Given the description of an element on the screen output the (x, y) to click on. 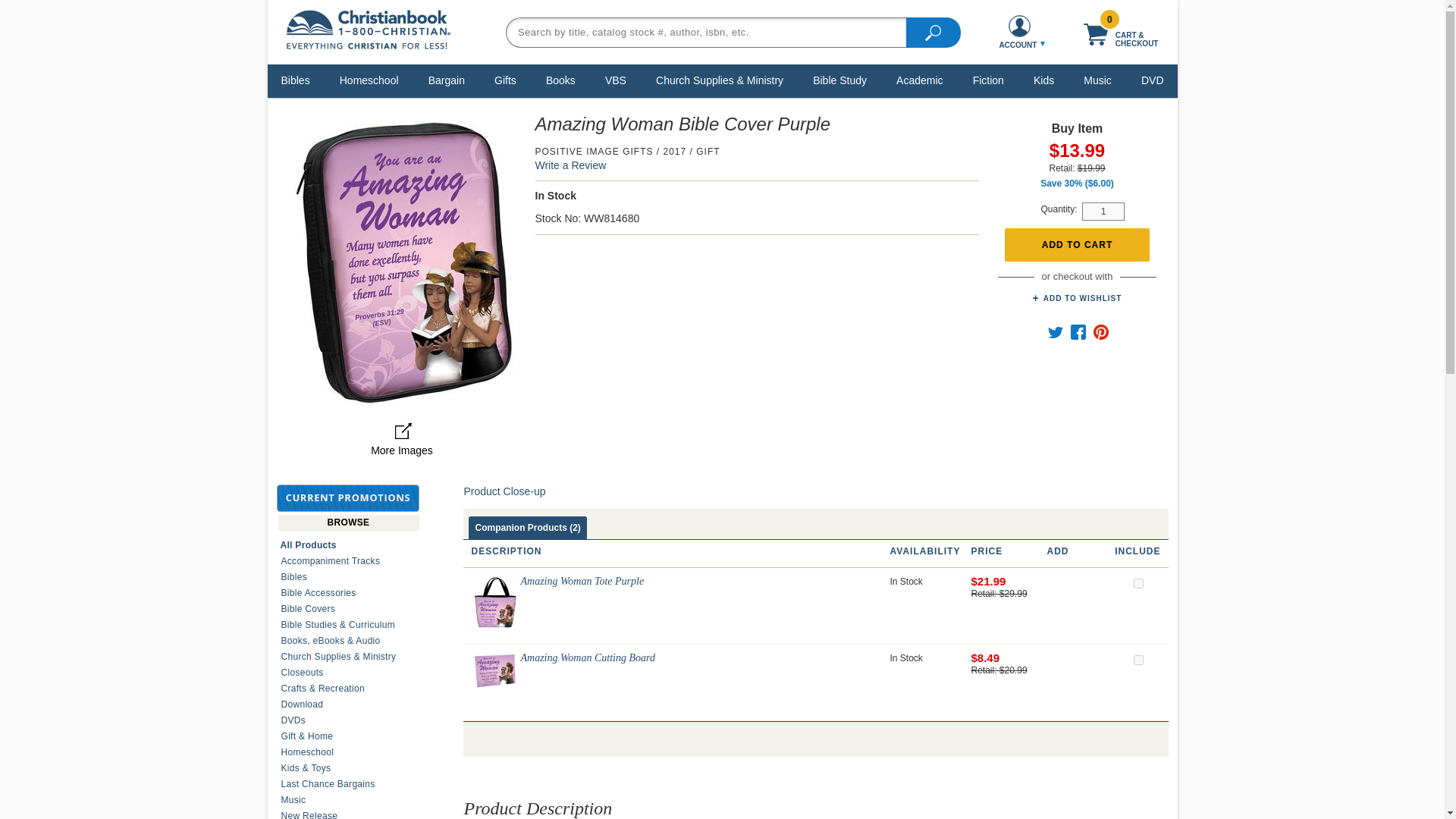
VBS (615, 79)
All Products (348, 545)
Write a Review (571, 164)
Books (560, 79)
818682 (1137, 583)
Fiction (988, 79)
1 (1102, 211)
Academic (919, 79)
Bibles (295, 79)
Add To Wishlist (1077, 298)
